Given the description of an element on the screen output the (x, y) to click on. 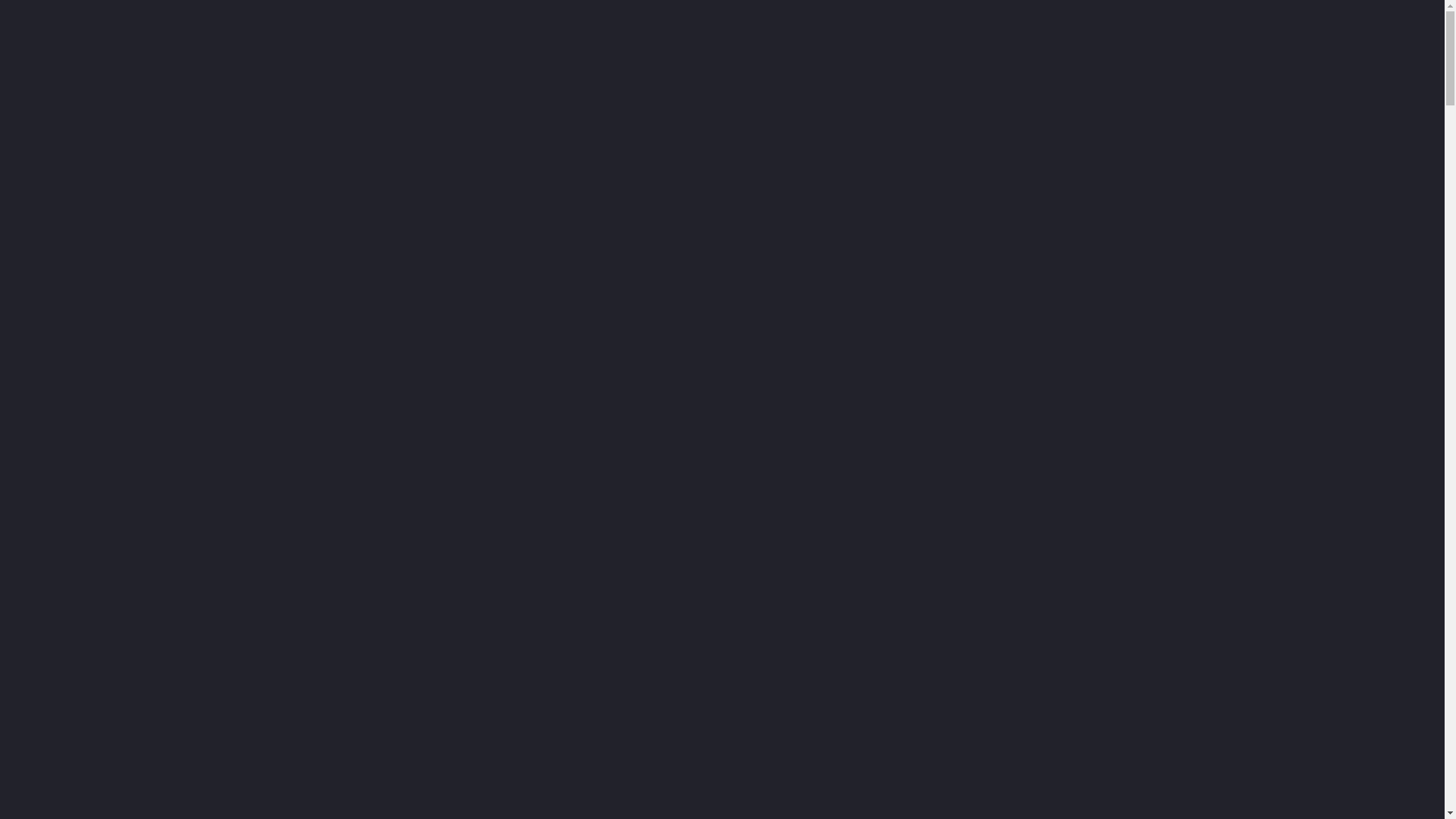
Conseils Element type: text (740, 181)
Services et Tarifs Element type: text (652, 181)
Scroll Top Element type: hover (1398, 774)
Shop Element type: text (572, 181)
Ecologie Element type: text (809, 181)
nos services Element type: text (104, 614)
Car Wash de Wavre Element type: hover (592, 95)
Contact & Horaires Element type: text (901, 181)
Accueil Element type: text (514, 181)
